Given the description of an element on the screen output the (x, y) to click on. 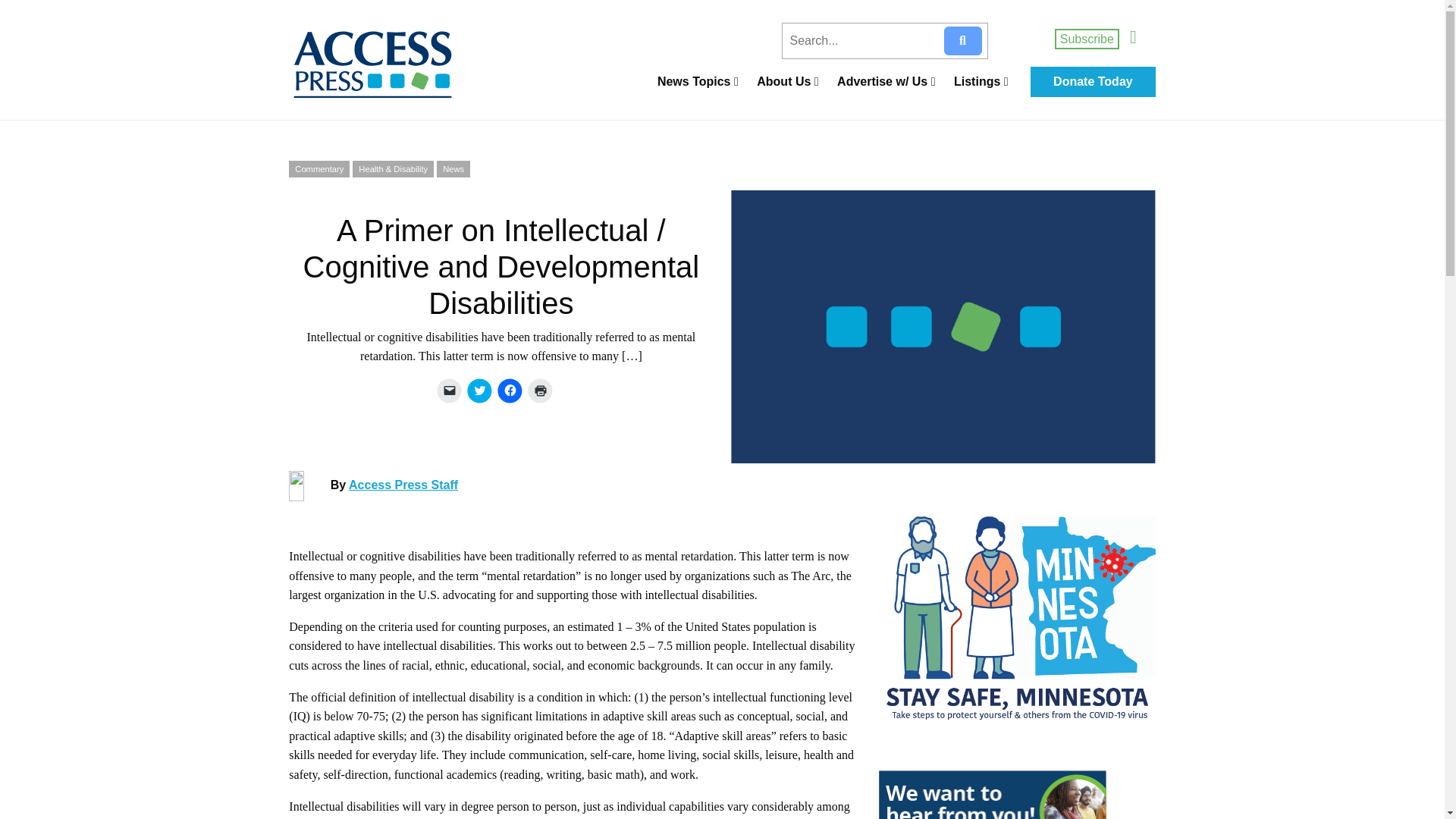
Click to print (540, 390)
News Topics (697, 81)
Subscribe (1086, 38)
Click to email a link to a friend (449, 390)
About Us (787, 81)
Click to share on Facebook (509, 390)
Access Press home page (390, 64)
Click to share on Twitter (479, 390)
Access Press (390, 64)
